Given the description of an element on the screen output the (x, y) to click on. 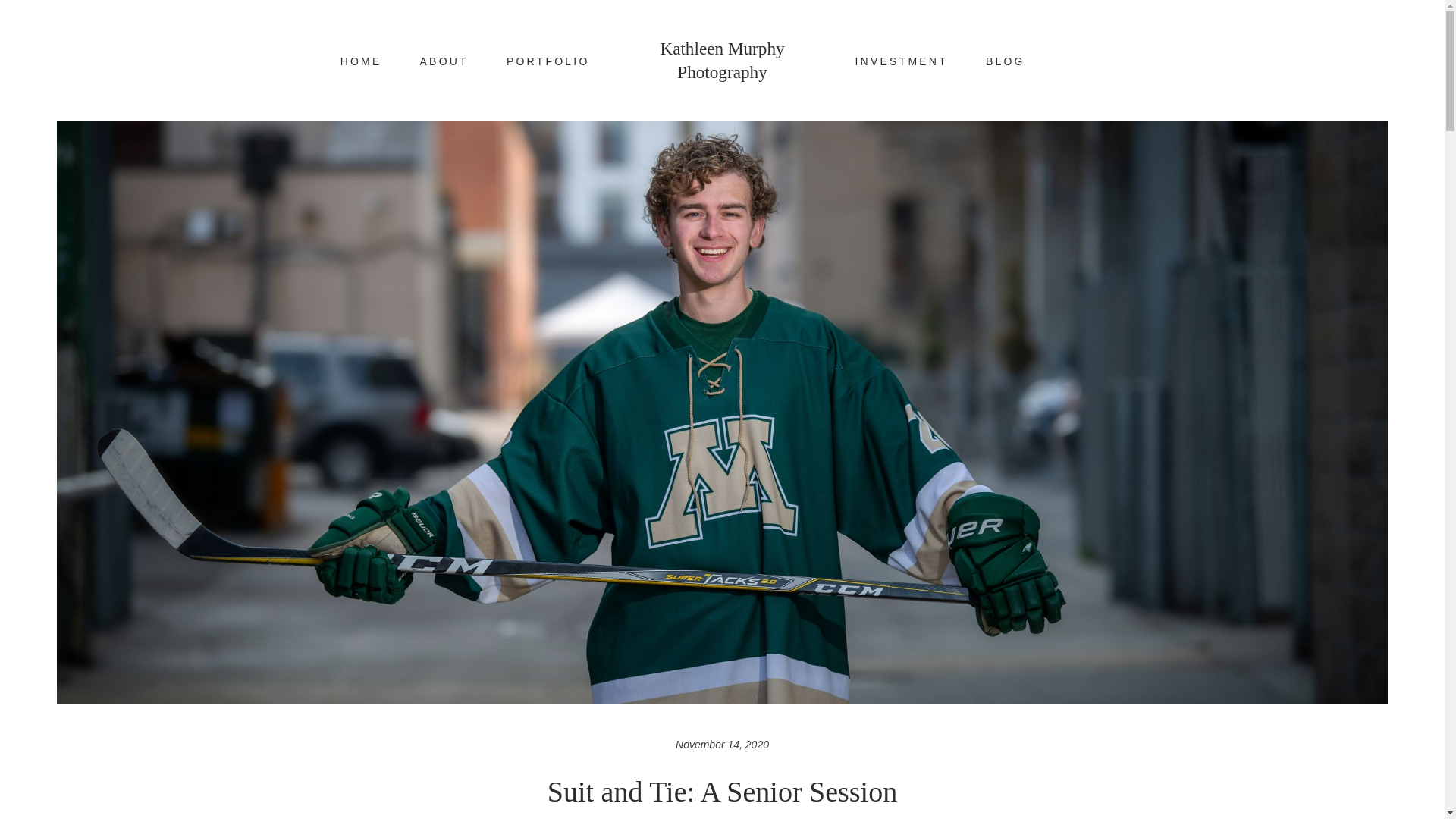
Kathleen Murphy Photography (722, 60)
ABOUT (444, 62)
INVESTMENT (900, 62)
HOME (361, 62)
PORTFOLIO (547, 62)
BLOG (1004, 62)
